Given the description of an element on the screen output the (x, y) to click on. 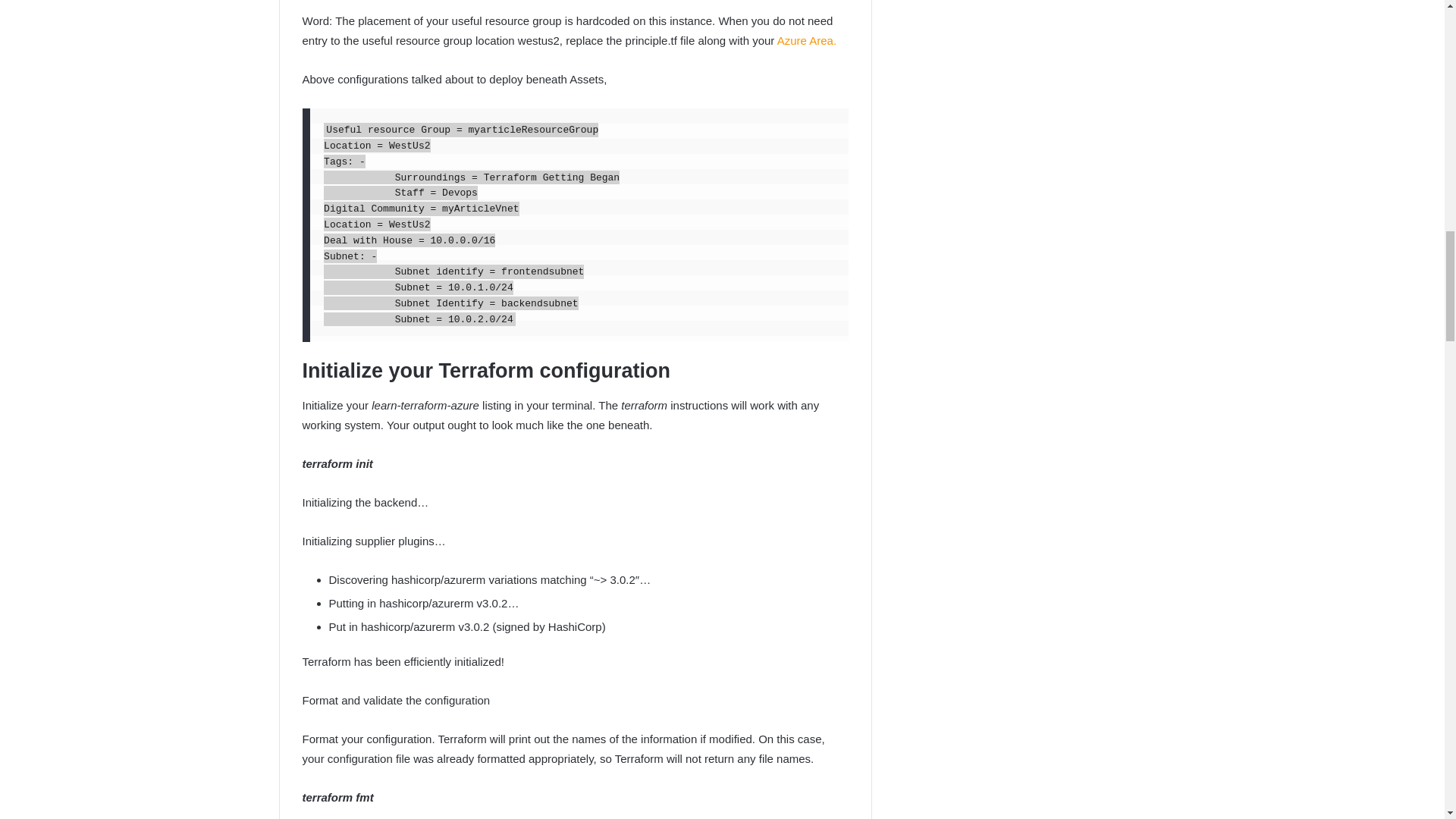
Azure Area. (806, 40)
